Given the description of an element on the screen output the (x, y) to click on. 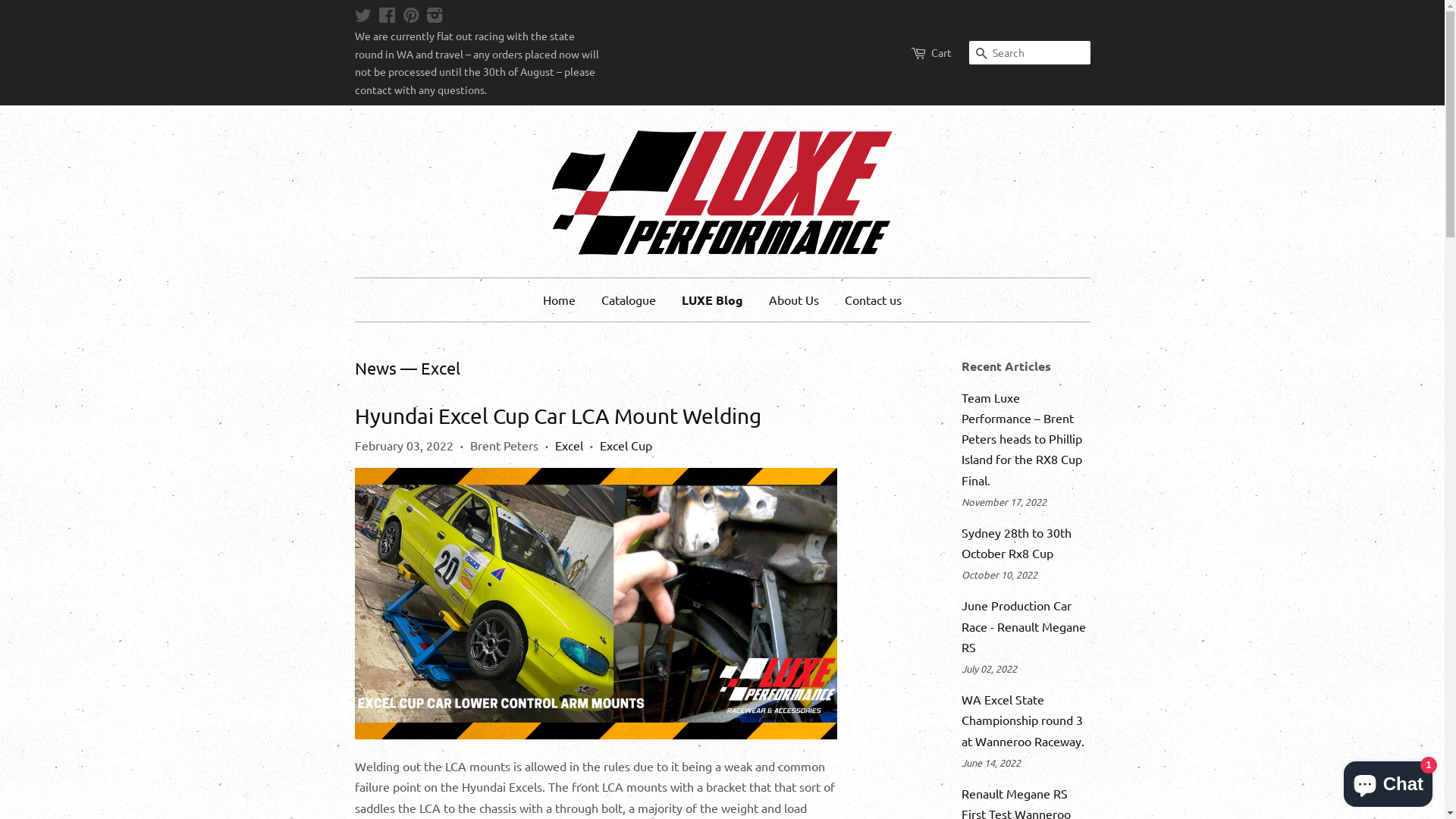
Twitter Element type: text (362, 17)
WA Excel State Championship round 3 at Wanneroo Raceway. Element type: text (1022, 719)
Sydney 28th to 30th October Rx8 Cup Element type: text (1016, 542)
Excel Cup Element type: text (625, 444)
Shopify online store chat Element type: hover (1388, 780)
Search Element type: text (981, 52)
Hyundai Excel Cup Car LCA Mount Welding Element type: text (557, 415)
News Element type: text (375, 367)
Cart Element type: text (941, 52)
LUXE Blog Element type: text (712, 299)
Excel Element type: text (569, 444)
About Us Element type: text (793, 299)
Instagram Element type: text (434, 17)
Facebook Element type: text (386, 17)
Contact us Element type: text (867, 299)
Catalogue Element type: text (628, 299)
Home Element type: text (564, 299)
June Production Car Race - Renault Megane RS Element type: text (1023, 625)
Pinterest Element type: text (409, 17)
